Given the description of an element on the screen output the (x, y) to click on. 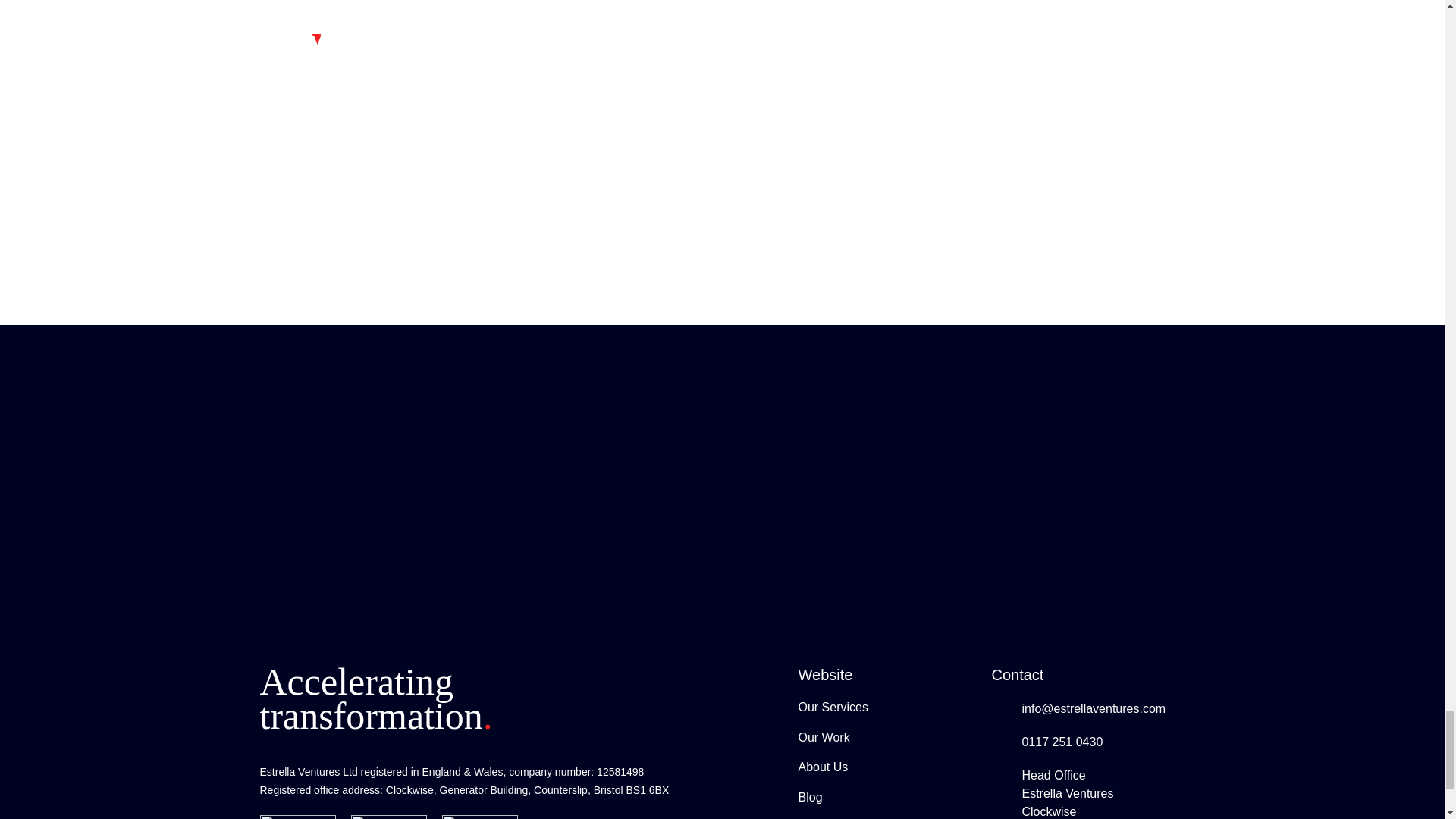
0117 251 0430 (1062, 741)
About Us (822, 766)
Our Services (832, 707)
Blog (809, 797)
Our Work (822, 737)
